Given the description of an element on the screen output the (x, y) to click on. 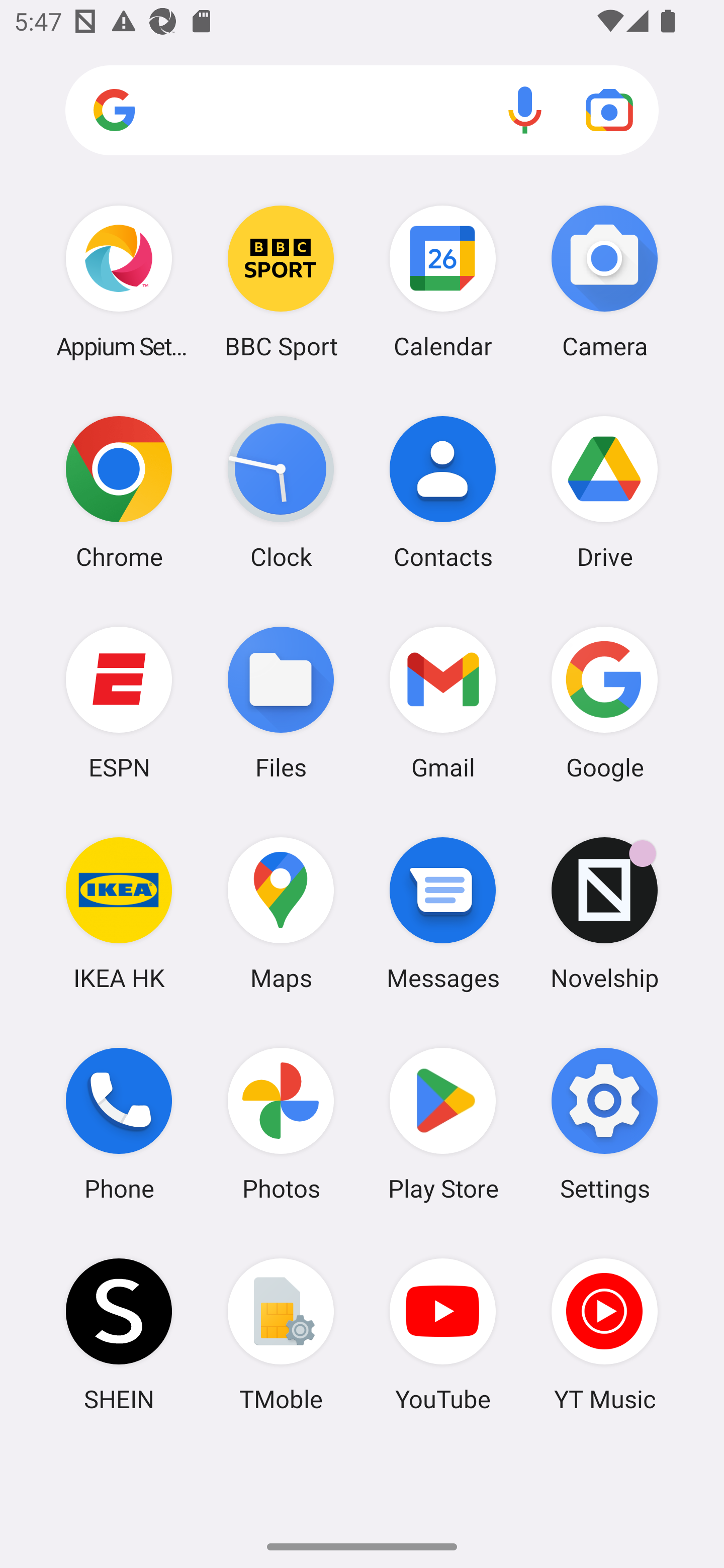
Search apps, web and more (361, 110)
Voice search (524, 109)
Google Lens (608, 109)
Appium Settings (118, 281)
BBC Sport (280, 281)
Calendar (443, 281)
Camera (604, 281)
Chrome (118, 492)
Clock (280, 492)
Contacts (443, 492)
Drive (604, 492)
ESPN (118, 702)
Files (280, 702)
Gmail (443, 702)
Google (604, 702)
IKEA HK (118, 913)
Maps (280, 913)
Messages (443, 913)
Novelship Novelship has 1 notification (604, 913)
Phone (118, 1124)
Photos (280, 1124)
Play Store (443, 1124)
Settings (604, 1124)
SHEIN (118, 1334)
TMoble (280, 1334)
YouTube (443, 1334)
YT Music (604, 1334)
